Given the description of an element on the screen output the (x, y) to click on. 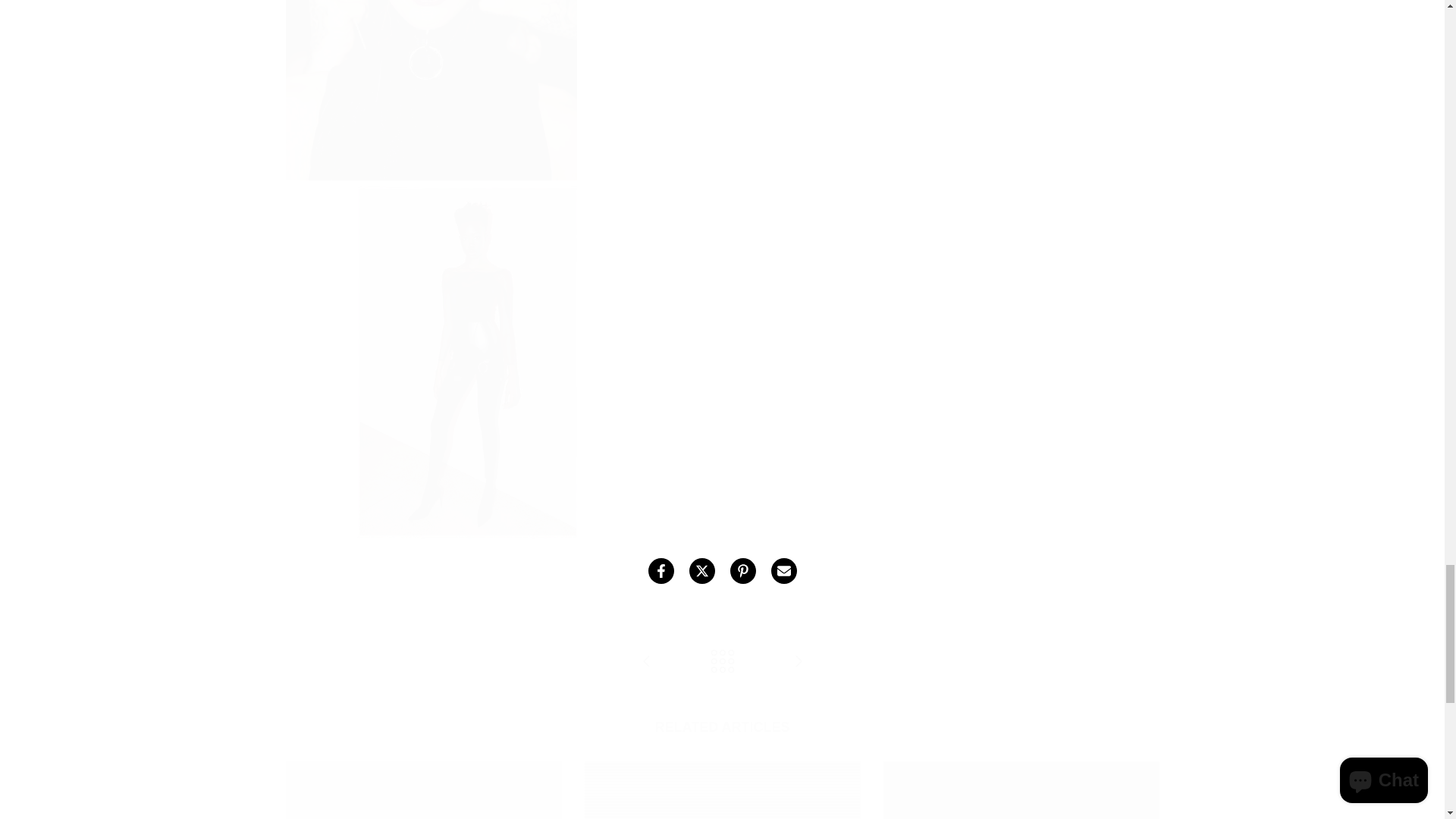
Share on Email (783, 570)
Back to ARTISTRYALCOVE (722, 662)
Share on Facebook (659, 570)
Share on Pinterest (742, 570)
Share on Twitter (701, 570)
DICHOTOMY (646, 662)
